Given the description of an element on the screen output the (x, y) to click on. 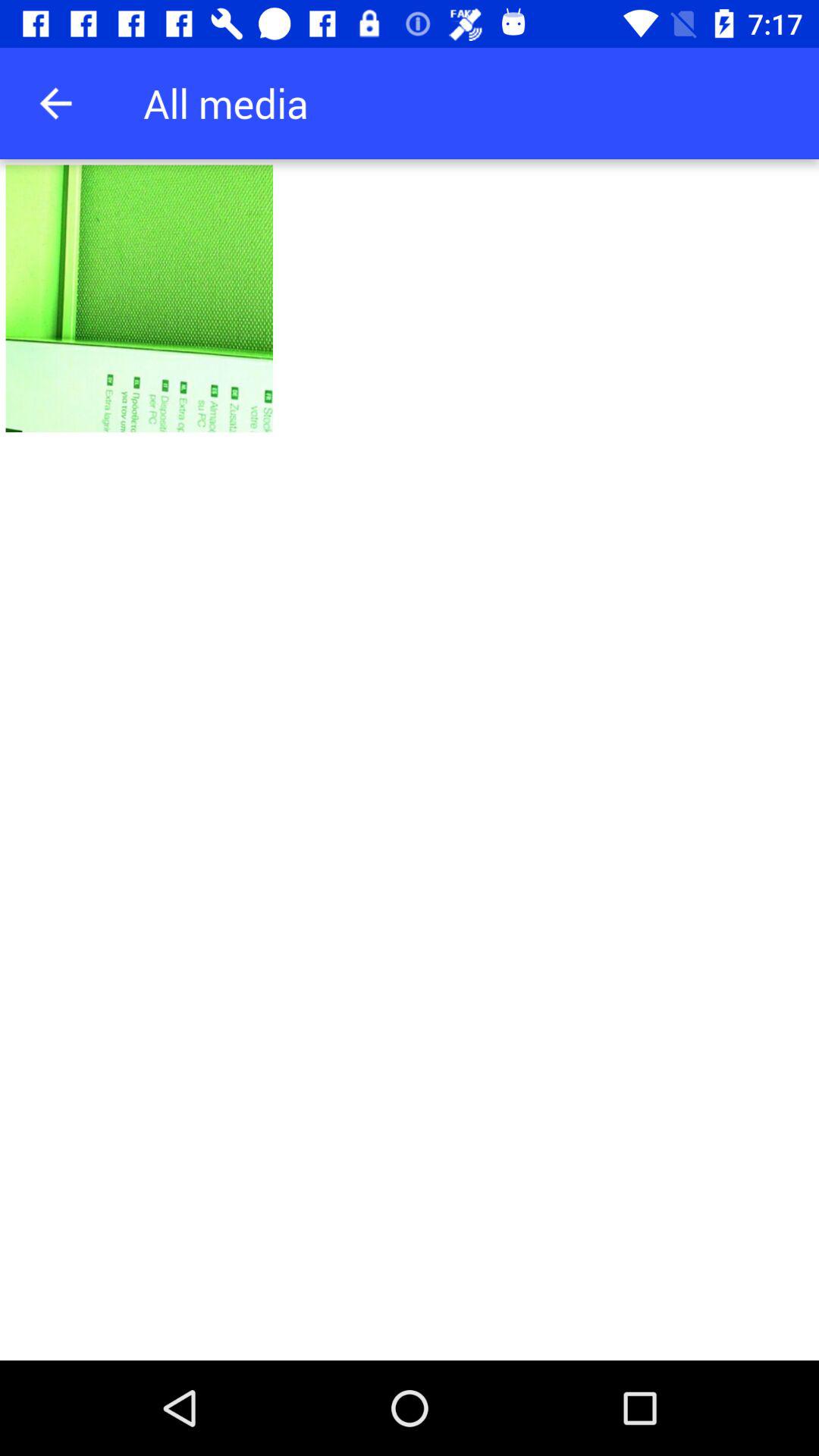
launch the item to the left of all media (55, 103)
